Given the description of an element on the screen output the (x, y) to click on. 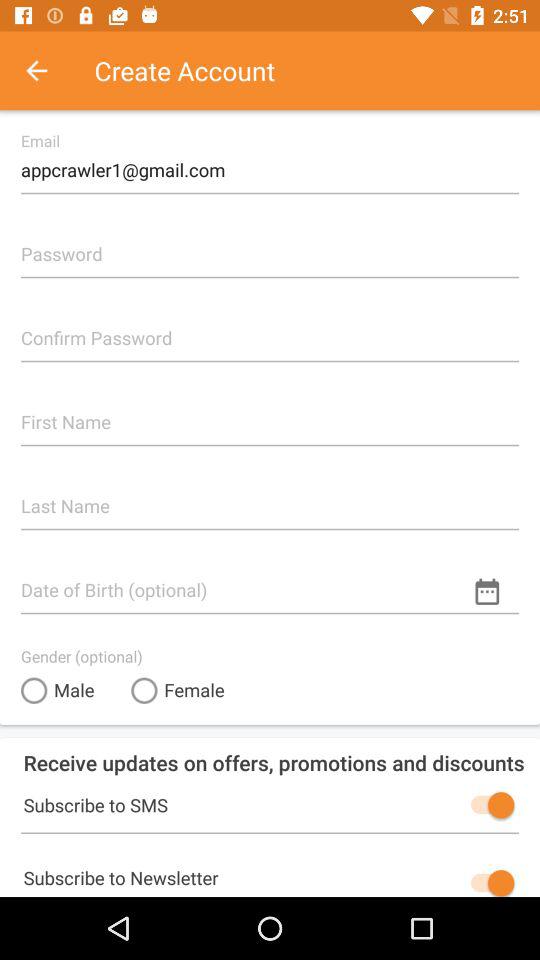
open the male (57, 690)
